Given the description of an element on the screen output the (x, y) to click on. 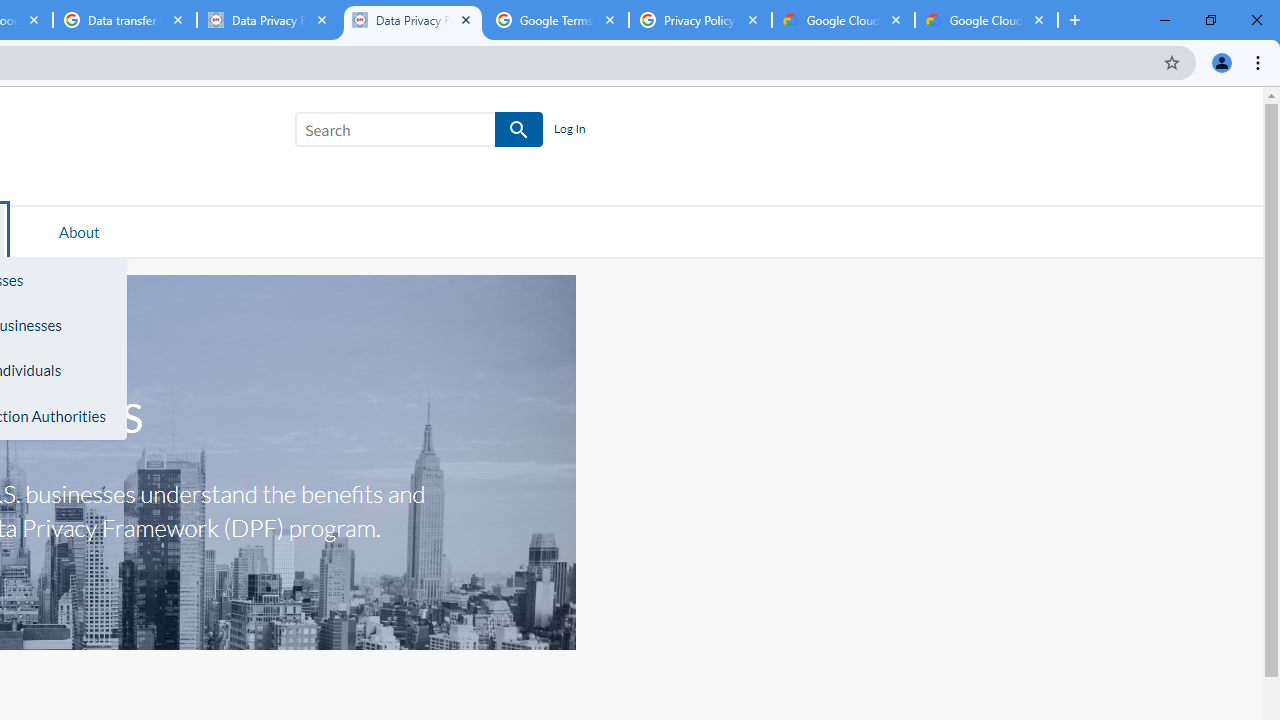
SEARCH (519, 130)
AutomationID: navitem2 (79, 231)
